Given the description of an element on the screen output the (x, y) to click on. 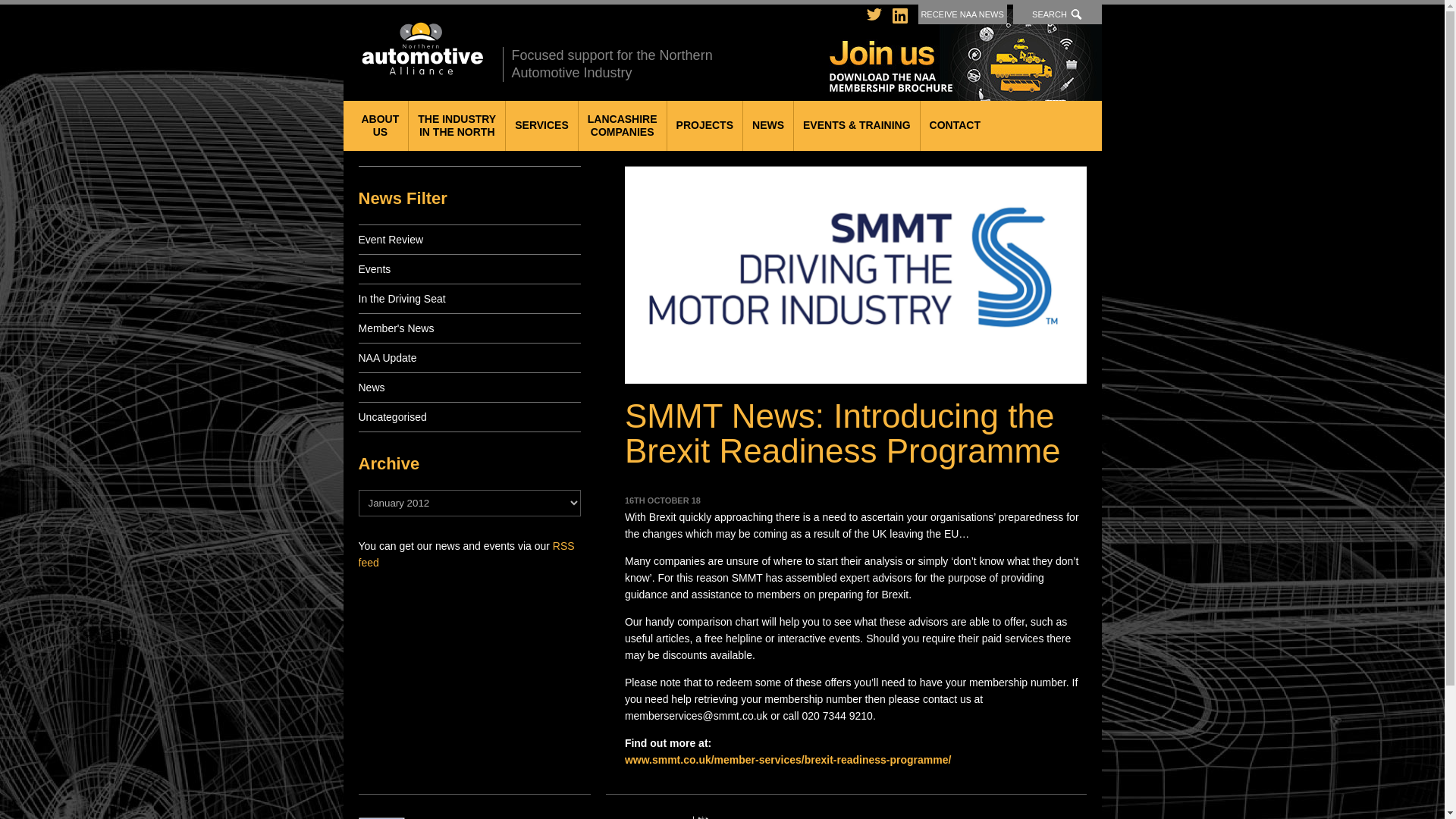
PROJECTS (622, 125)
Join us - Download the NAA membership brochure (704, 125)
SEARCH (965, 54)
RECEIVE NAA NEWS (1057, 14)
SERVICES (379, 125)
Northern Automotive Alliance (457, 125)
